Given the description of an element on the screen output the (x, y) to click on. 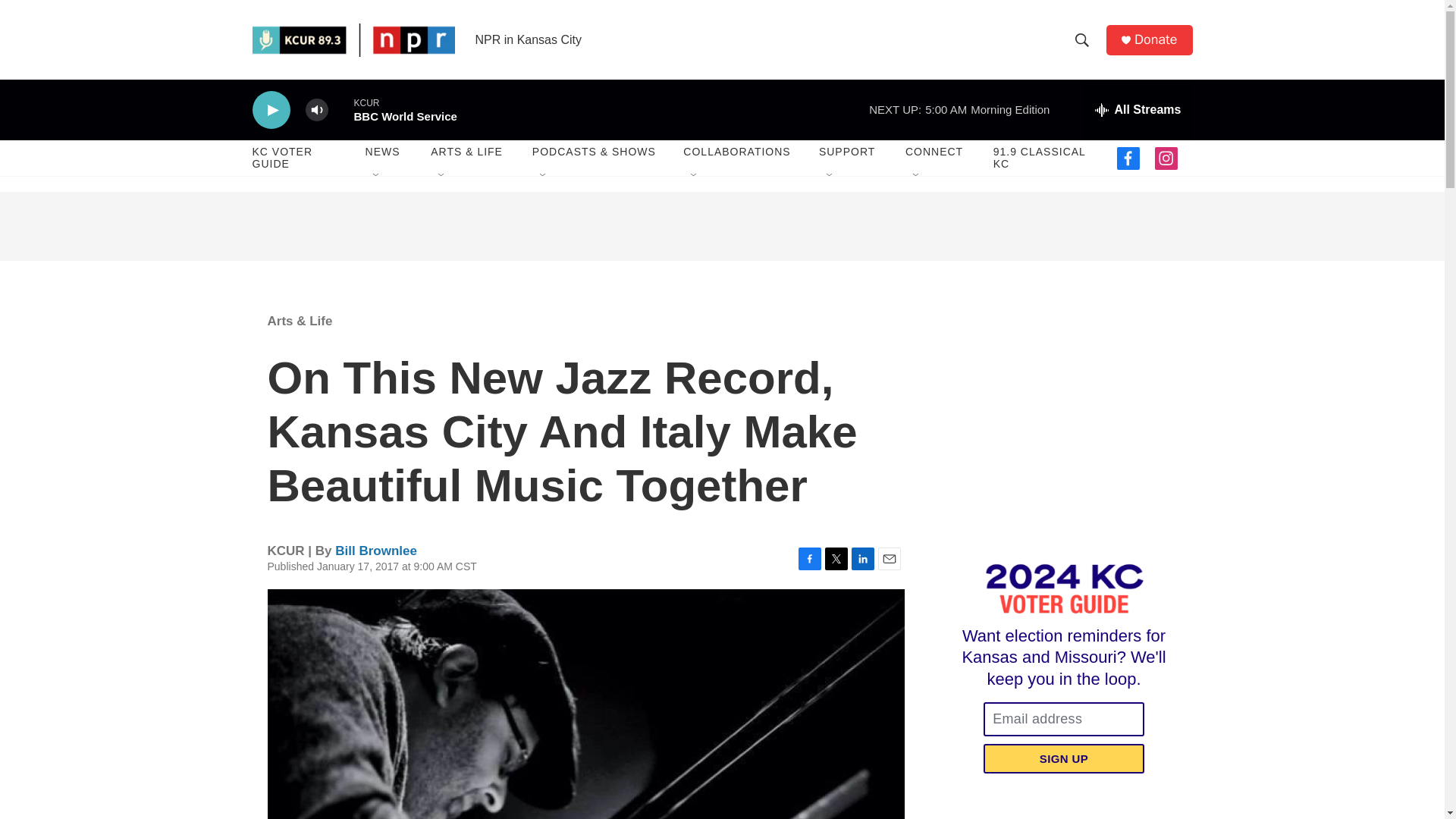
3rd party ad content (721, 226)
3rd party ad content (1062, 431)
